Given the description of an element on the screen output the (x, y) to click on. 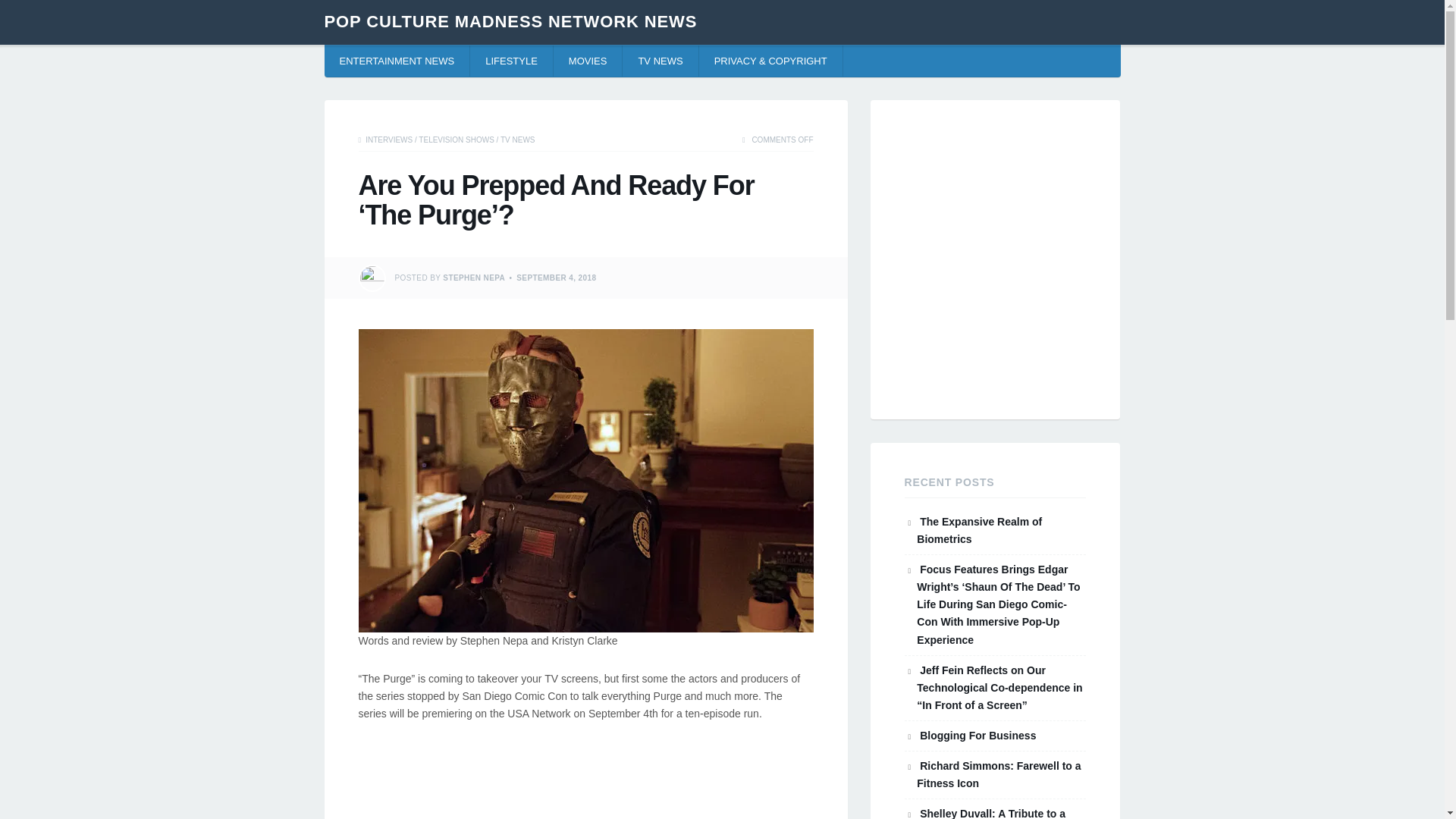
MOVIES (588, 60)
View all posts by Stephen Nepa (473, 277)
TELEVISION SHOWS (456, 139)
TV NEWS (660, 60)
The Expansive Realm of Biometrics (979, 530)
TV NEWS (517, 139)
SEPTEMBER 4, 2018 (555, 277)
INTERVIEWS (388, 139)
POP CULTURE MADNESS NETWORK NEWS (510, 21)
STEPHEN NEPA (473, 277)
LIFESTYLE (511, 60)
ENTERTAINMENT NEWS (397, 60)
